Given the description of an element on the screen output the (x, y) to click on. 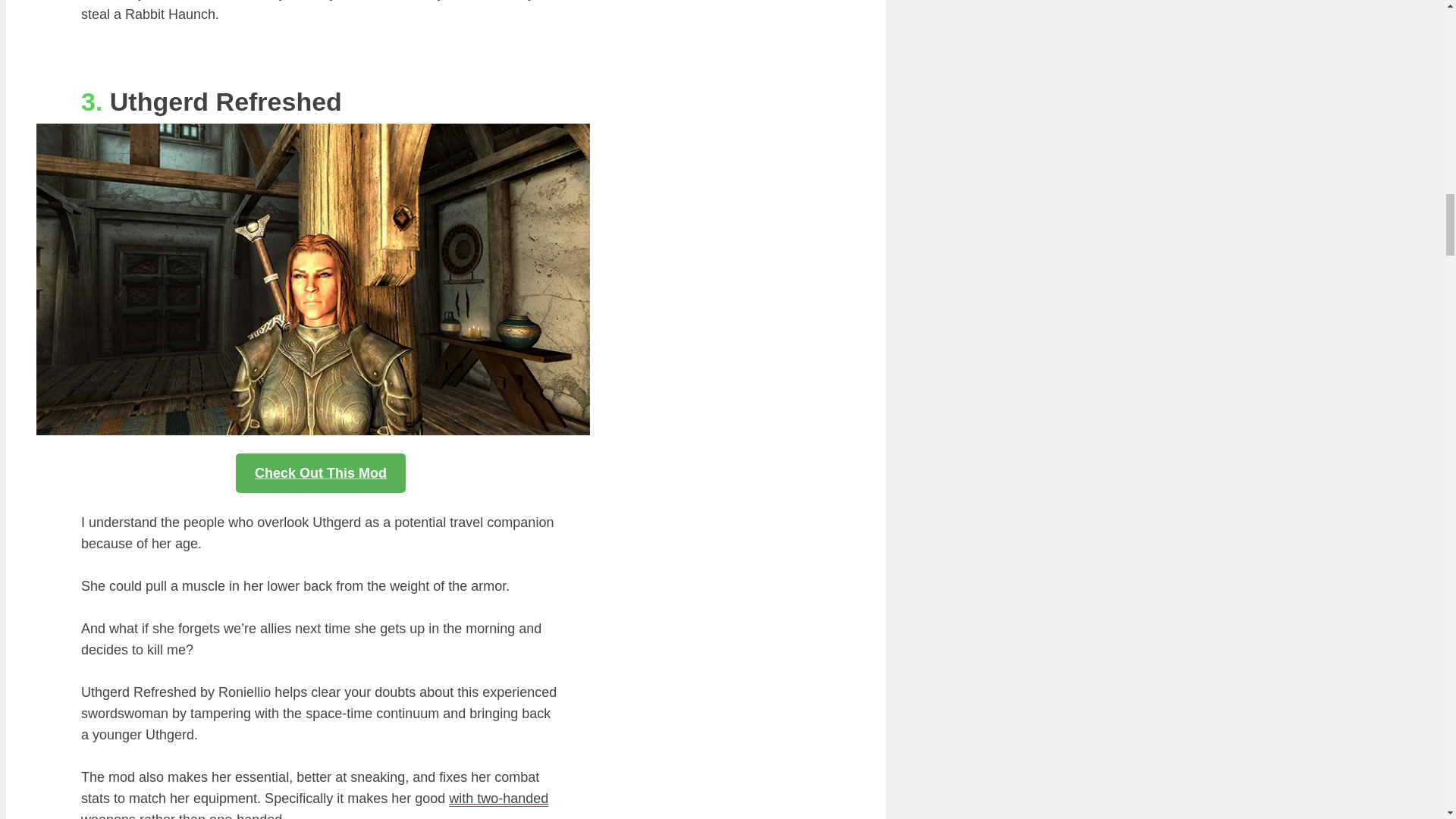
Check Out This Mod (320, 473)
with two-handed weapons (314, 805)
